Given the description of an element on the screen output the (x, y) to click on. 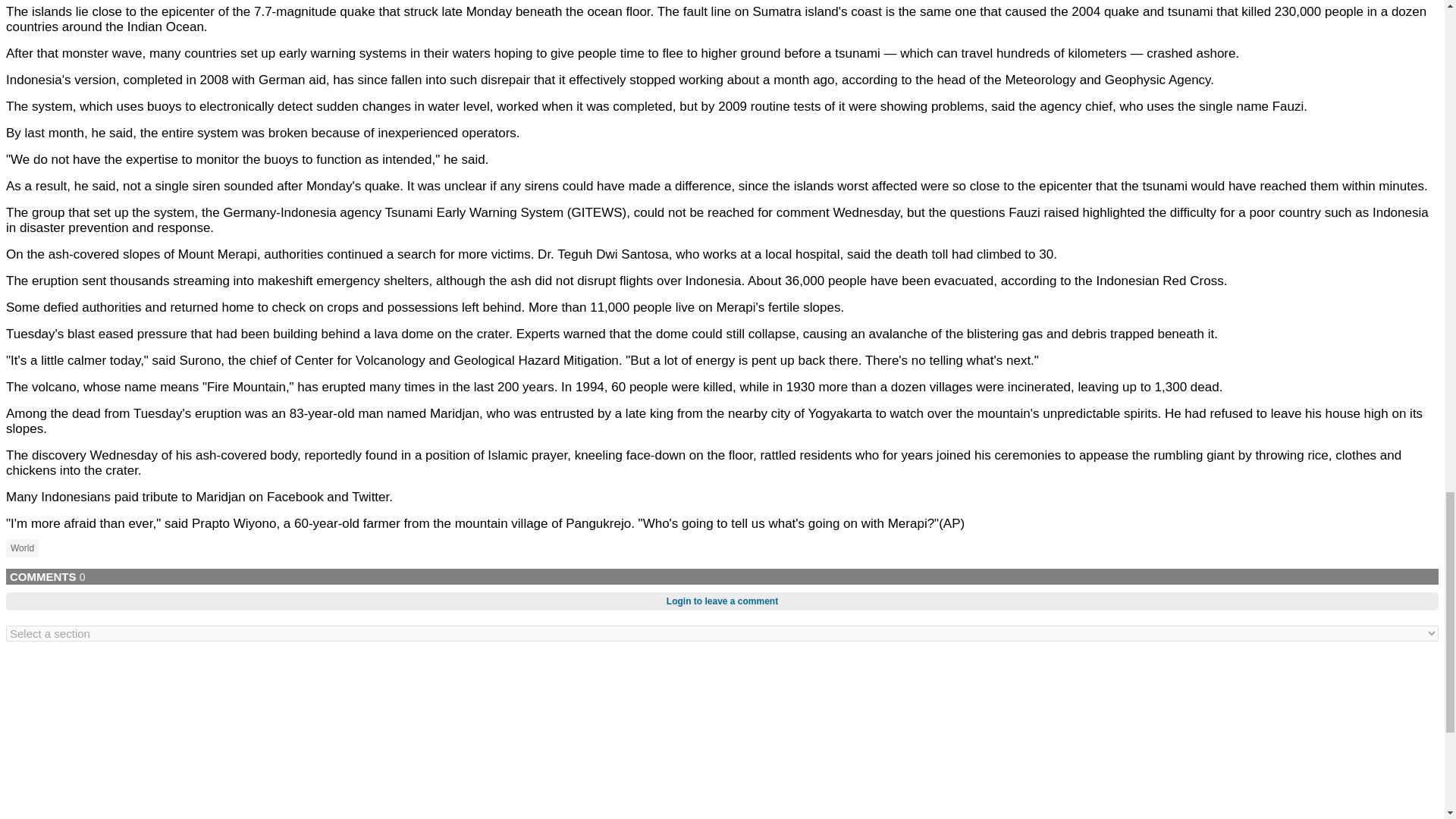
World (22, 547)
Login to leave a comment (721, 601)
